Given the description of an element on the screen output the (x, y) to click on. 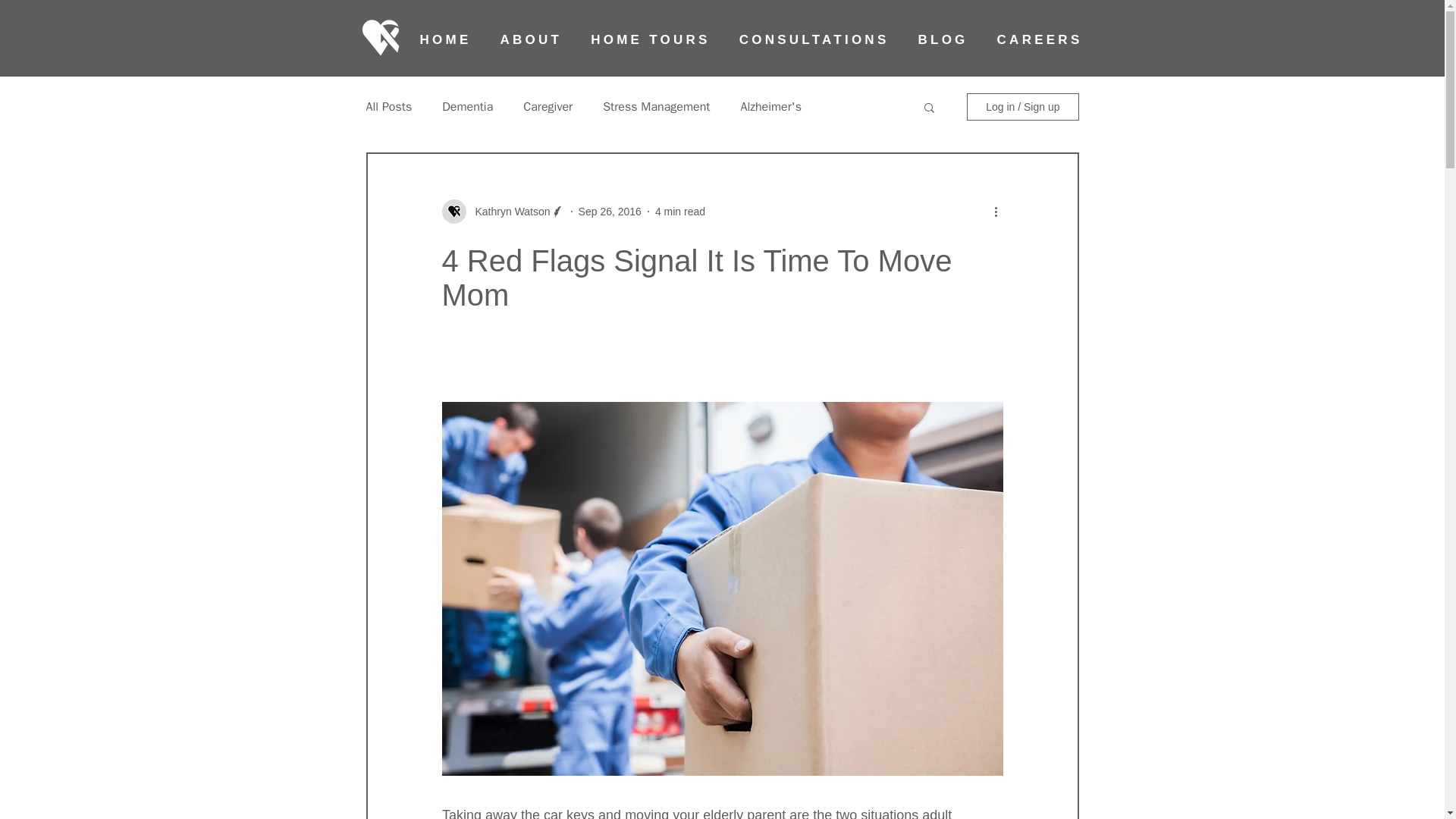
All Posts (388, 106)
HOME (444, 40)
BLOG (941, 40)
Alzheimer's (770, 106)
CAREERS (1039, 40)
Dementia (467, 106)
Kathryn Watson (507, 211)
Sep 26, 2016 (610, 210)
CONSULTATIONS (814, 40)
ABOUT (530, 40)
